Given the description of an element on the screen output the (x, y) to click on. 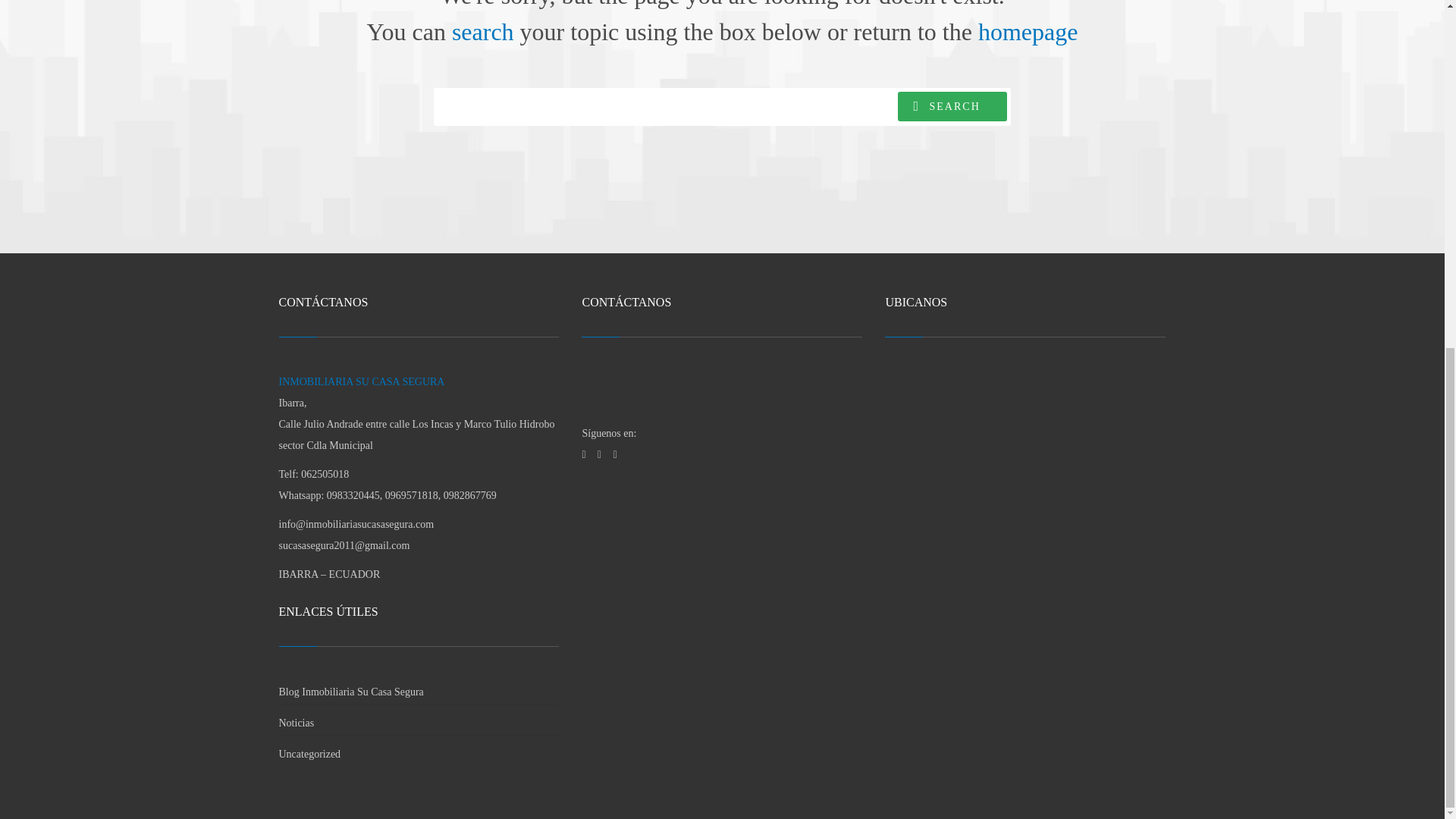
Blog Inmobiliaria Su Casa Segura (351, 691)
Uncategorized (309, 753)
homepage (1028, 31)
SEARCH (952, 106)
Noticias (296, 722)
